Given the description of an element on the screen output the (x, y) to click on. 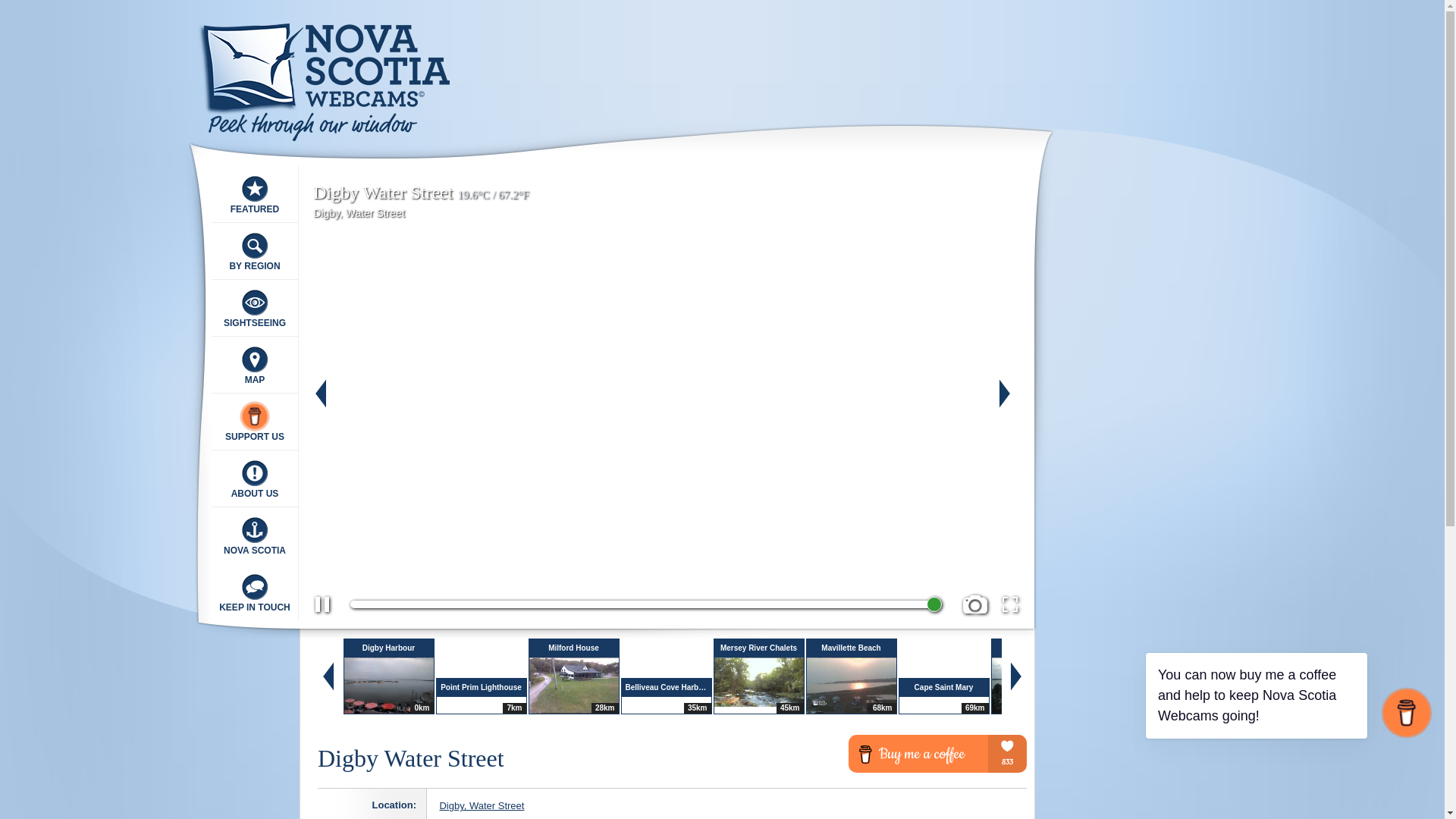
Pier 21 (105, 420)
White Point Beach (105, 235)
BY REGION (254, 251)
Peggys Cove Lighthouse (105, 512)
Fundy Discovery Site (105, 374)
BernArt Maze (105, 189)
Halifax Waterfront (105, 605)
FEATURED (254, 194)
BeeCam (105, 466)
Quarterdeck Resort (105, 281)
